Given the description of an element on the screen output the (x, y) to click on. 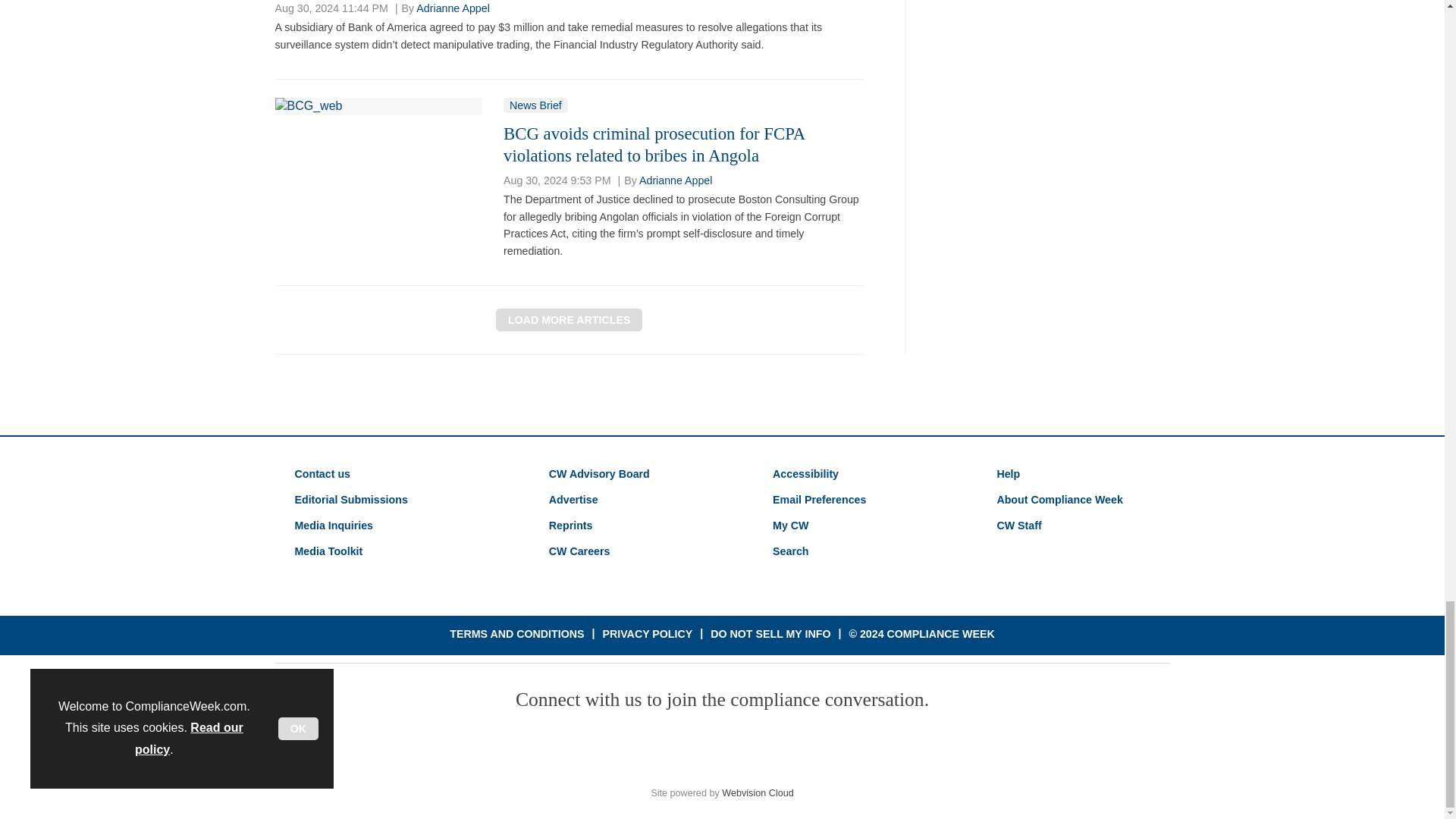
Connect with us on Facebook (611, 747)
Connect with us on Linked in (721, 747)
Email us (831, 747)
Connect with us on Instagram (776, 747)
Connect with us on Twitter (667, 747)
